Given the description of an element on the screen output the (x, y) to click on. 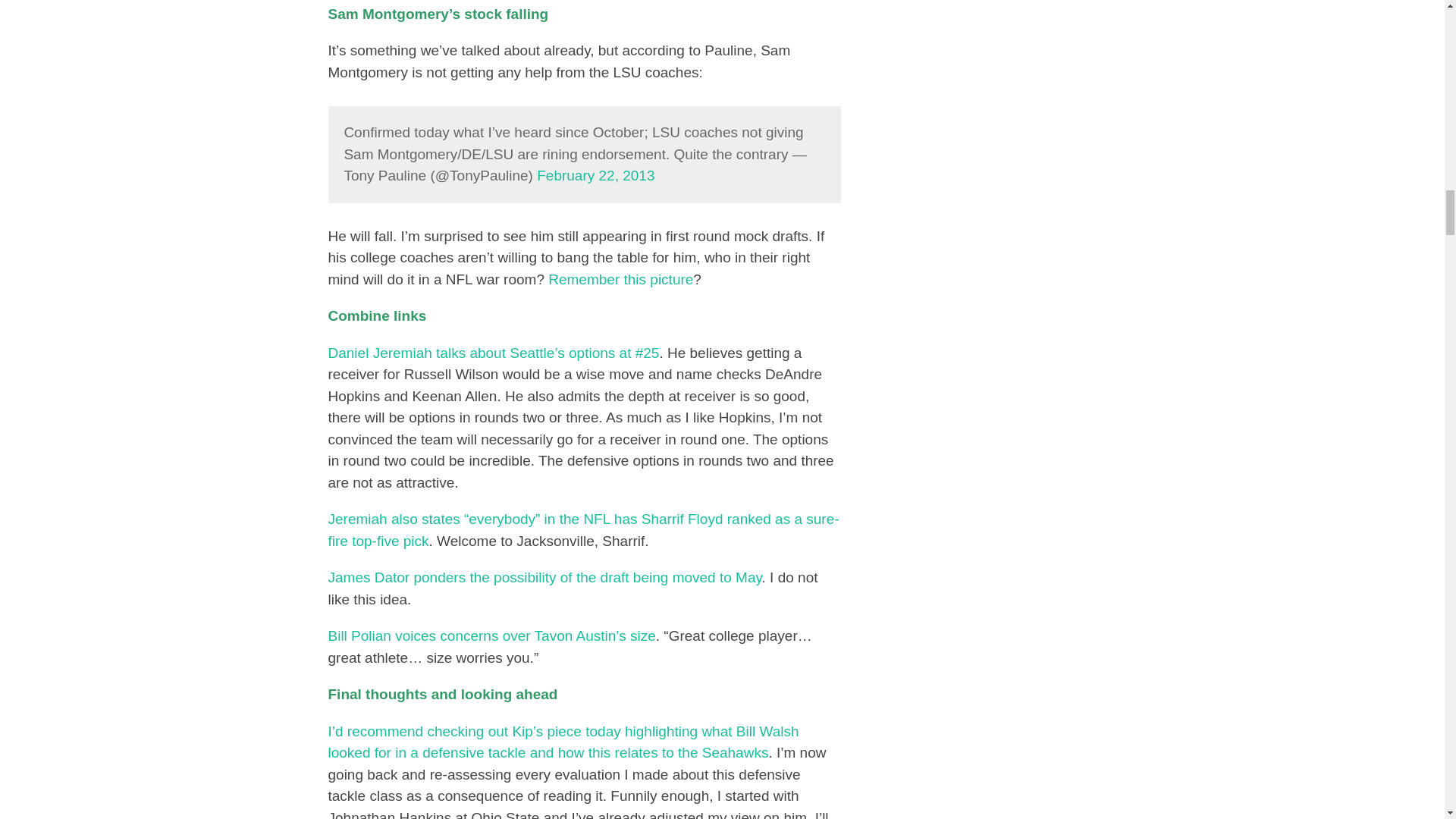
Remember this picture (620, 279)
February 22, 2013 (595, 175)
